Given the description of an element on the screen output the (x, y) to click on. 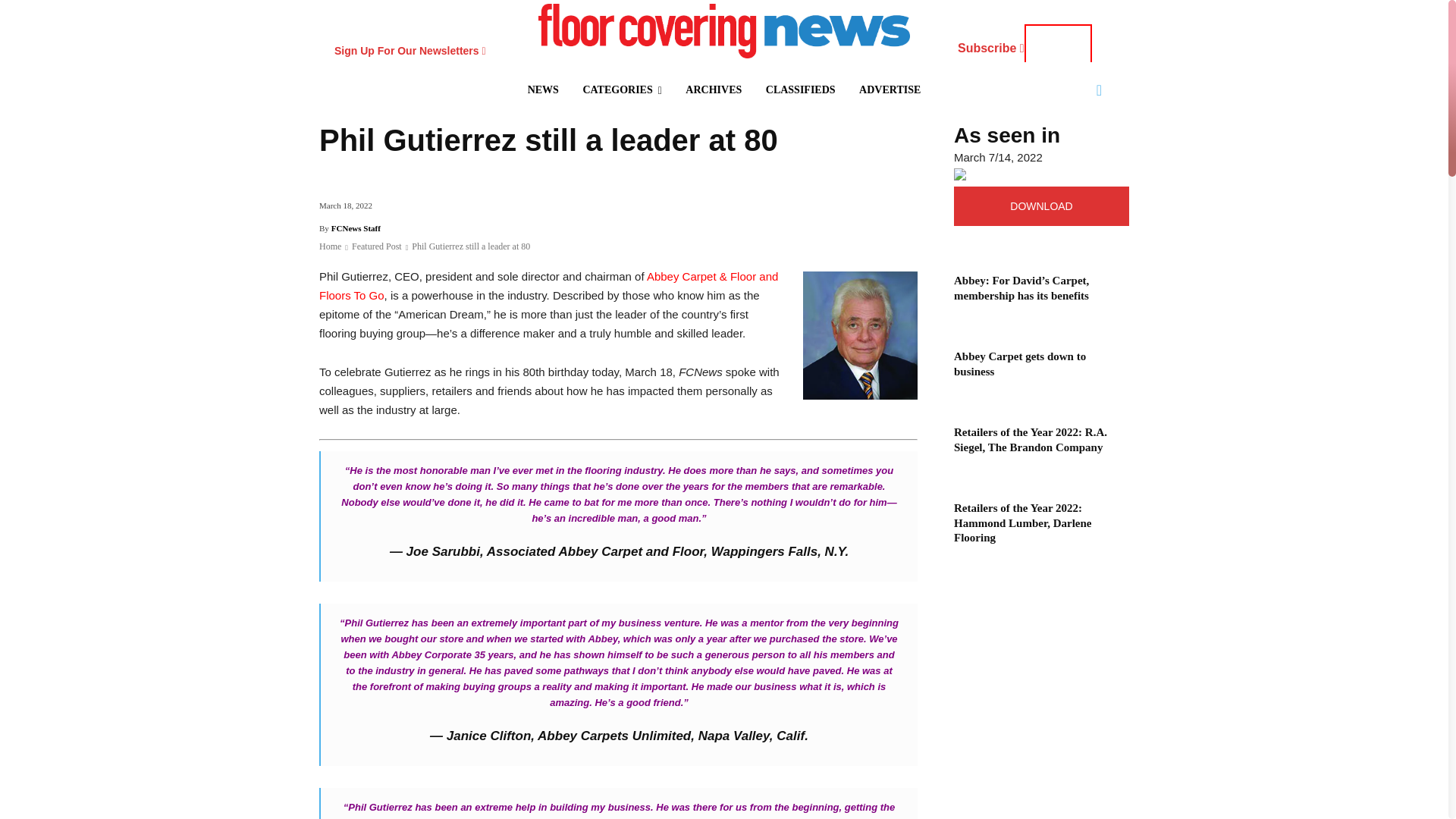
CATEGORIES (621, 90)
View all posts in Featured Post (376, 245)
Subscribe (1025, 50)
Sign Up For Our Newsletters (410, 50)
NEWS (542, 90)
